Given the description of an element on the screen output the (x, y) to click on. 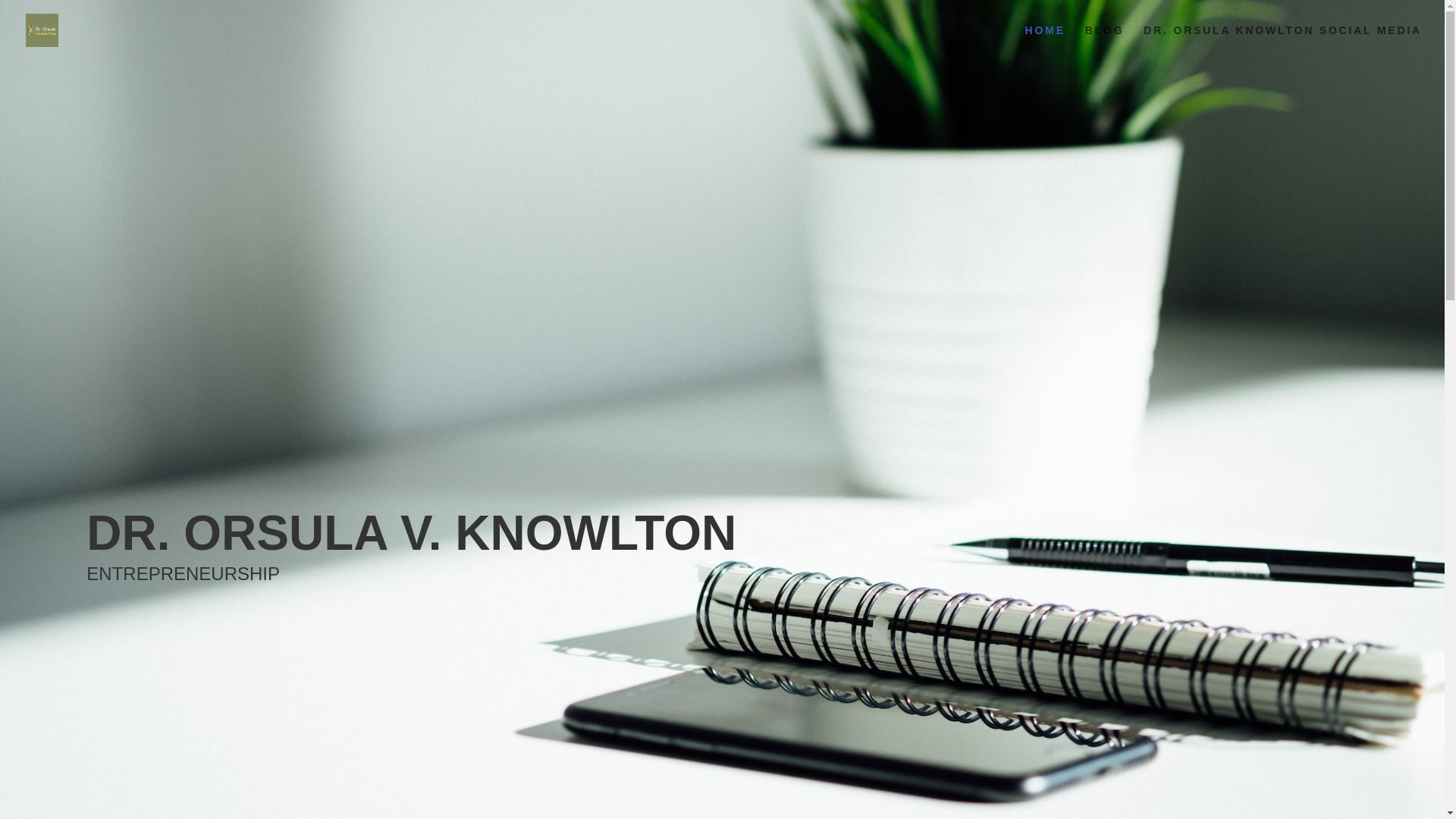
BLOG (1104, 42)
DR. ORSULA KNOWLTON SOCIAL MEDIA (1282, 42)
HOME (1045, 42)
